Given the description of an element on the screen output the (x, y) to click on. 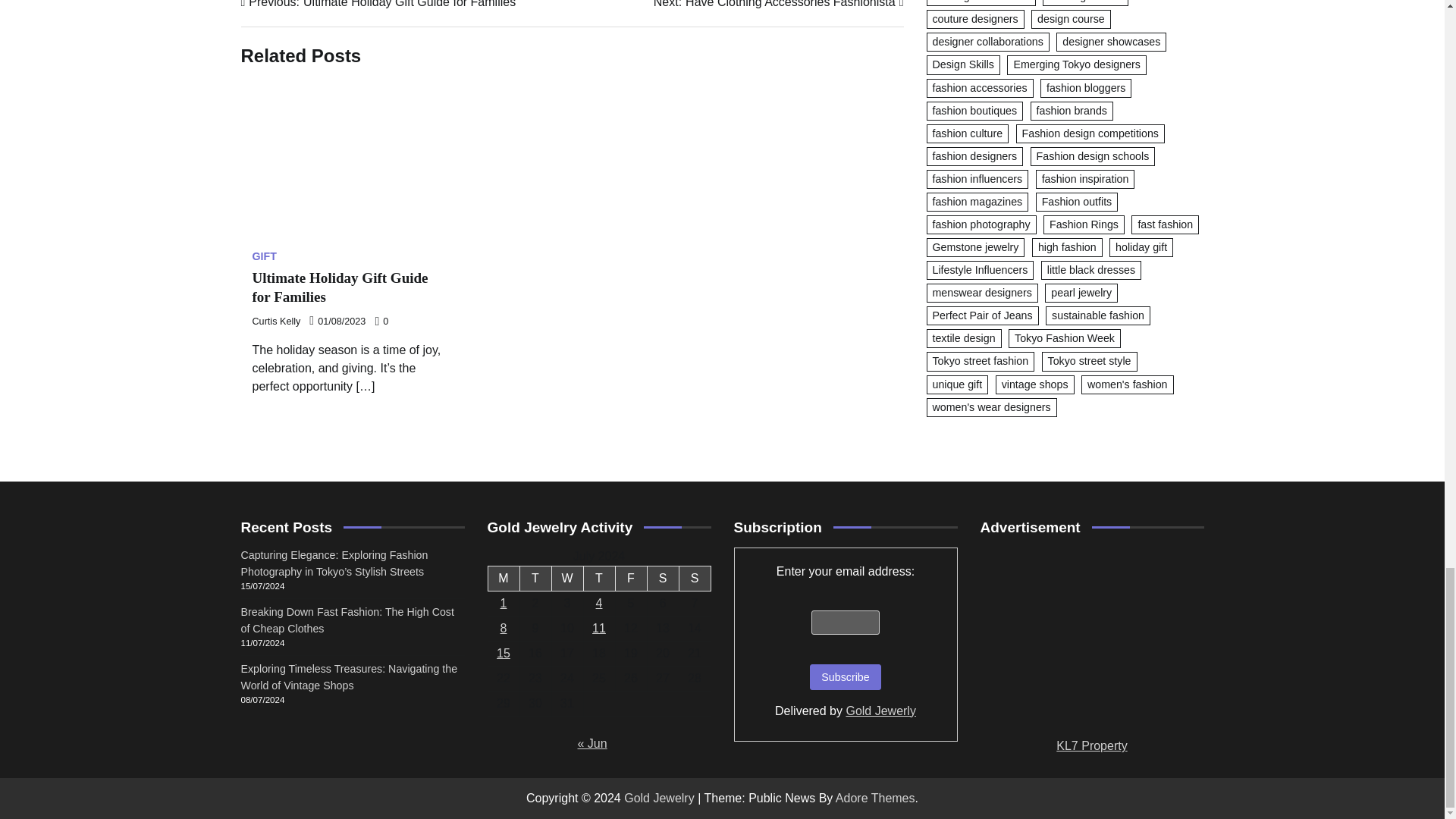
Tuesday (535, 578)
Saturday (662, 578)
Curtis Kelly (275, 321)
Friday (630, 578)
Subscribe (844, 676)
Sunday (694, 578)
Ultimate Holiday Gift Guide for Families (349, 160)
Thursday (598, 578)
Ultimate Holiday Gift Guide for Families (339, 287)
Wednesday (378, 5)
GIFT (567, 578)
Micro Business (778, 5)
Monday (263, 255)
